Given the description of an element on the screen output the (x, y) to click on. 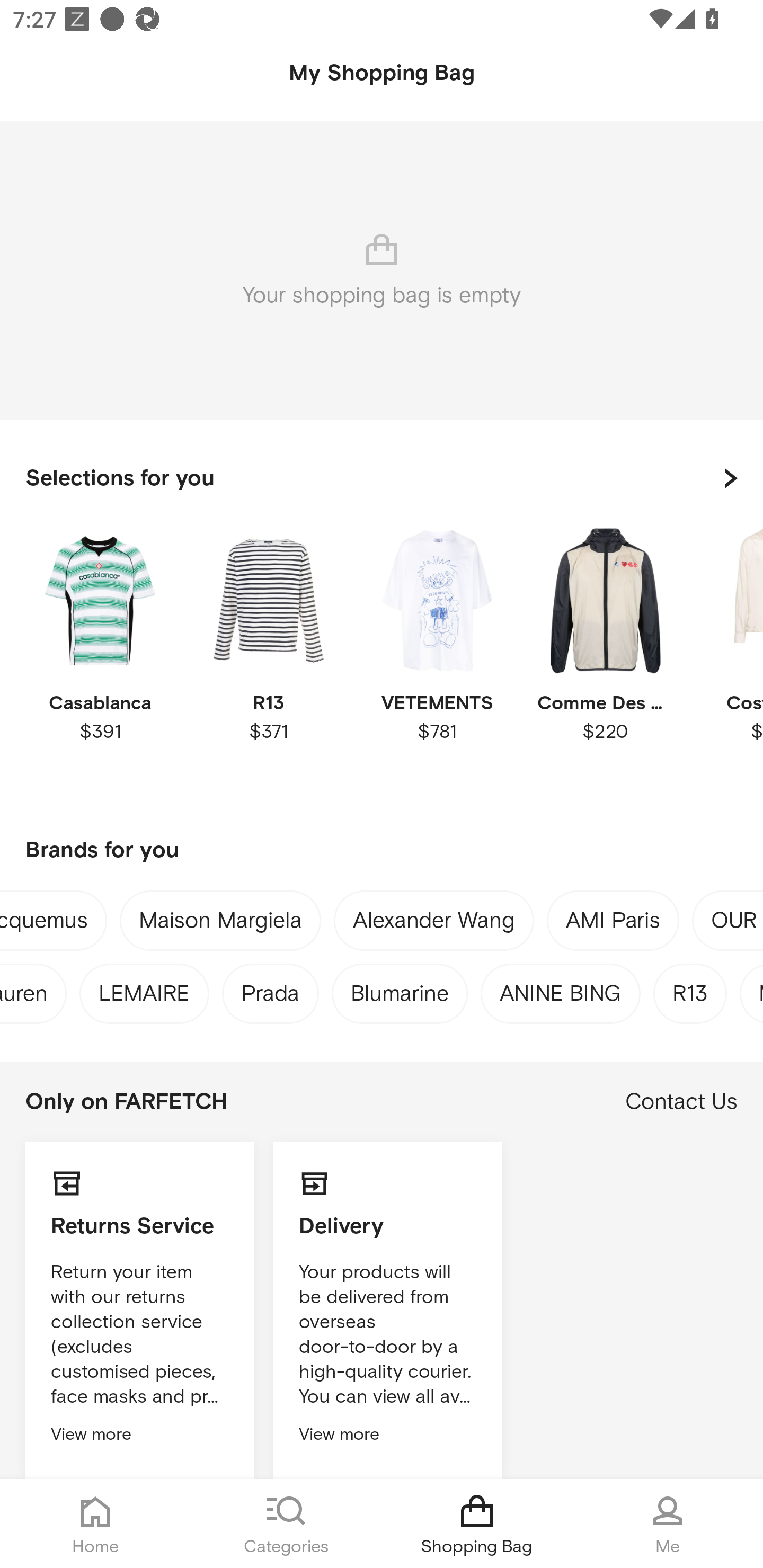
Selections for you (381, 477)
Casablanca $391 (100, 660)
R13 $371 (268, 660)
VETEMENTS $781 (436, 660)
Comme Des Garçons Play $220 (605, 660)
Brands for you (381, 850)
Jacquemus (43, 924)
Maison Margiela (220, 924)
Alexander Wang (433, 924)
AMI Paris (612, 924)
OUR LEGACY (737, 924)
LEMAIRE (143, 988)
Prada (270, 988)
Blumarine (399, 988)
ANINE BING (560, 988)
R13 (690, 988)
Contact Us (680, 1101)
Home (95, 1523)
Categories (285, 1523)
Me (667, 1523)
